Given the description of an element on the screen output the (x, y) to click on. 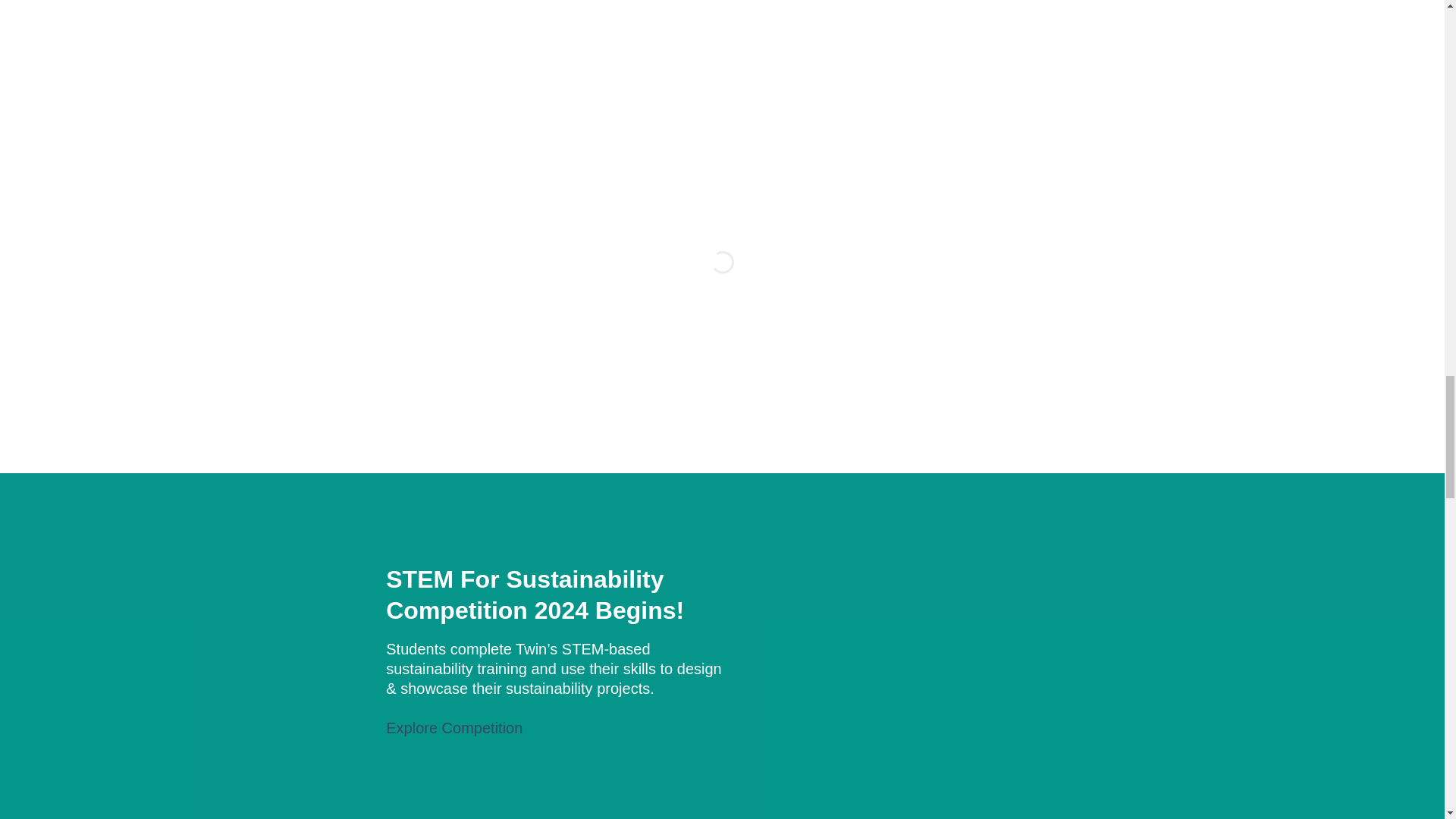
Explore Competition (453, 727)
